Given the description of an element on the screen output the (x, y) to click on. 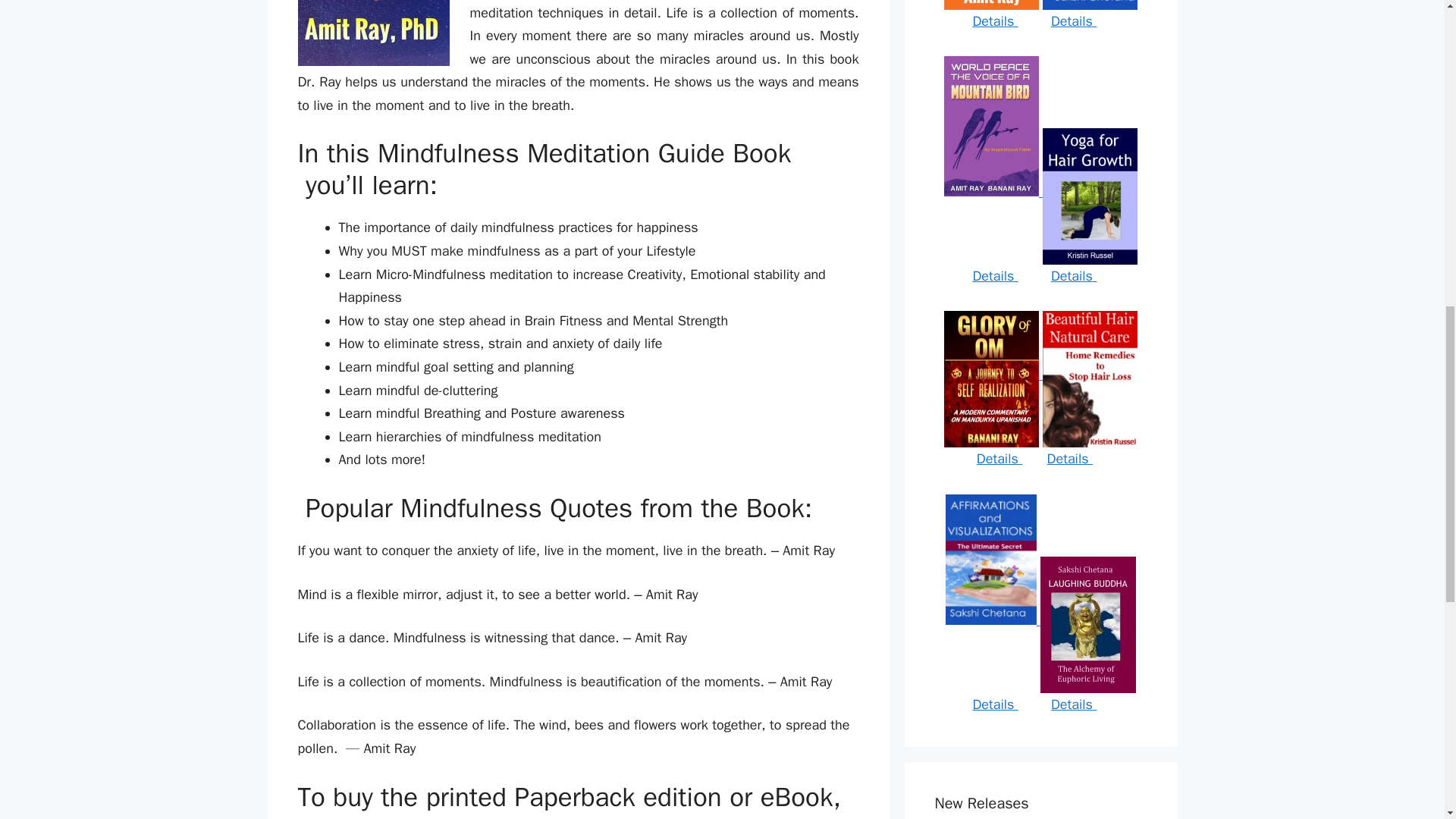
How to be Successful (1089, 4)
Details (1073, 275)
Details (994, 21)
Meditation: Insights and Inspirations (991, 4)
Details (1073, 21)
